Given the description of an element on the screen output the (x, y) to click on. 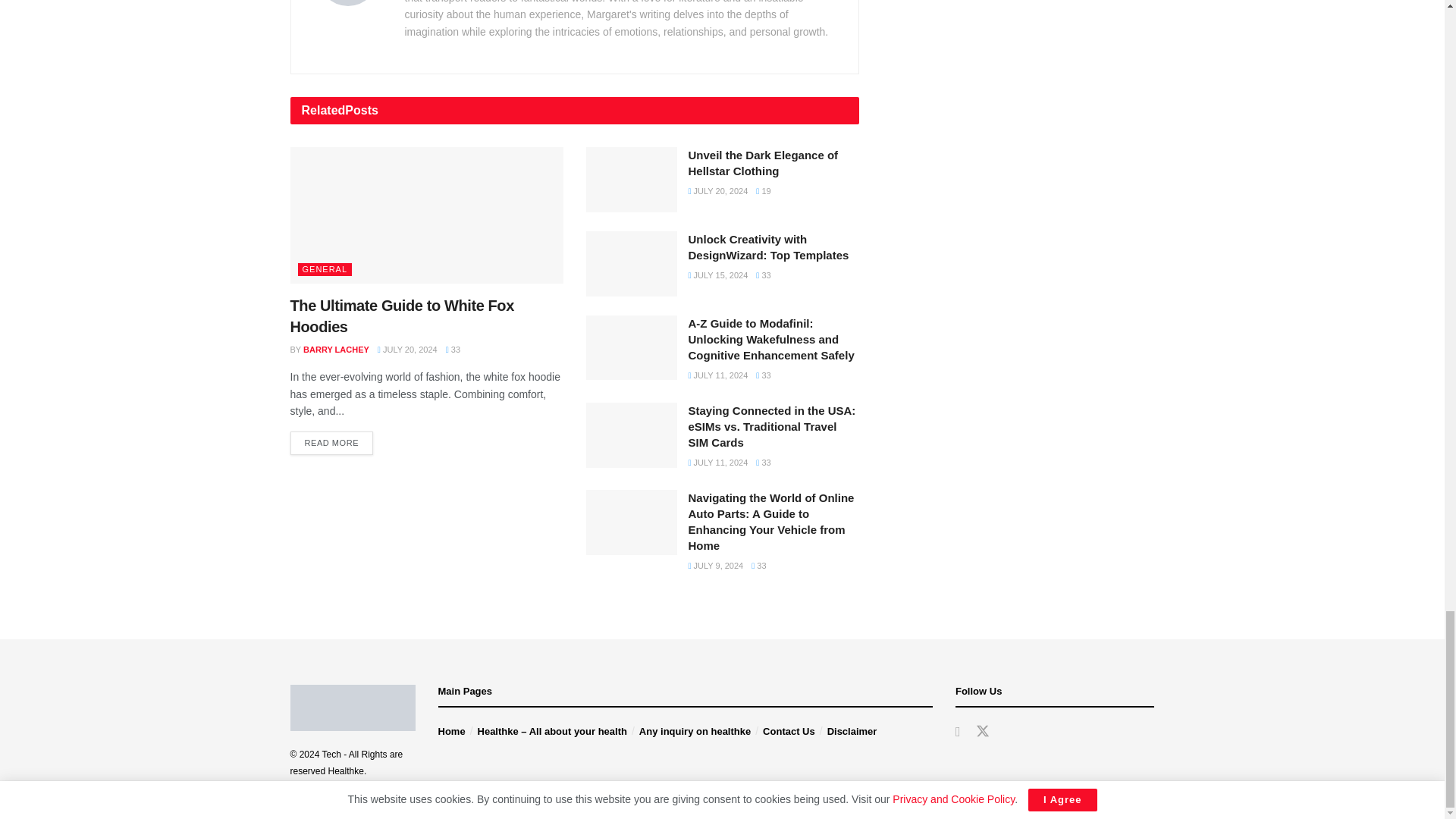
Healthke (346, 770)
Tech (330, 754)
